Given the description of an element on the screen output the (x, y) to click on. 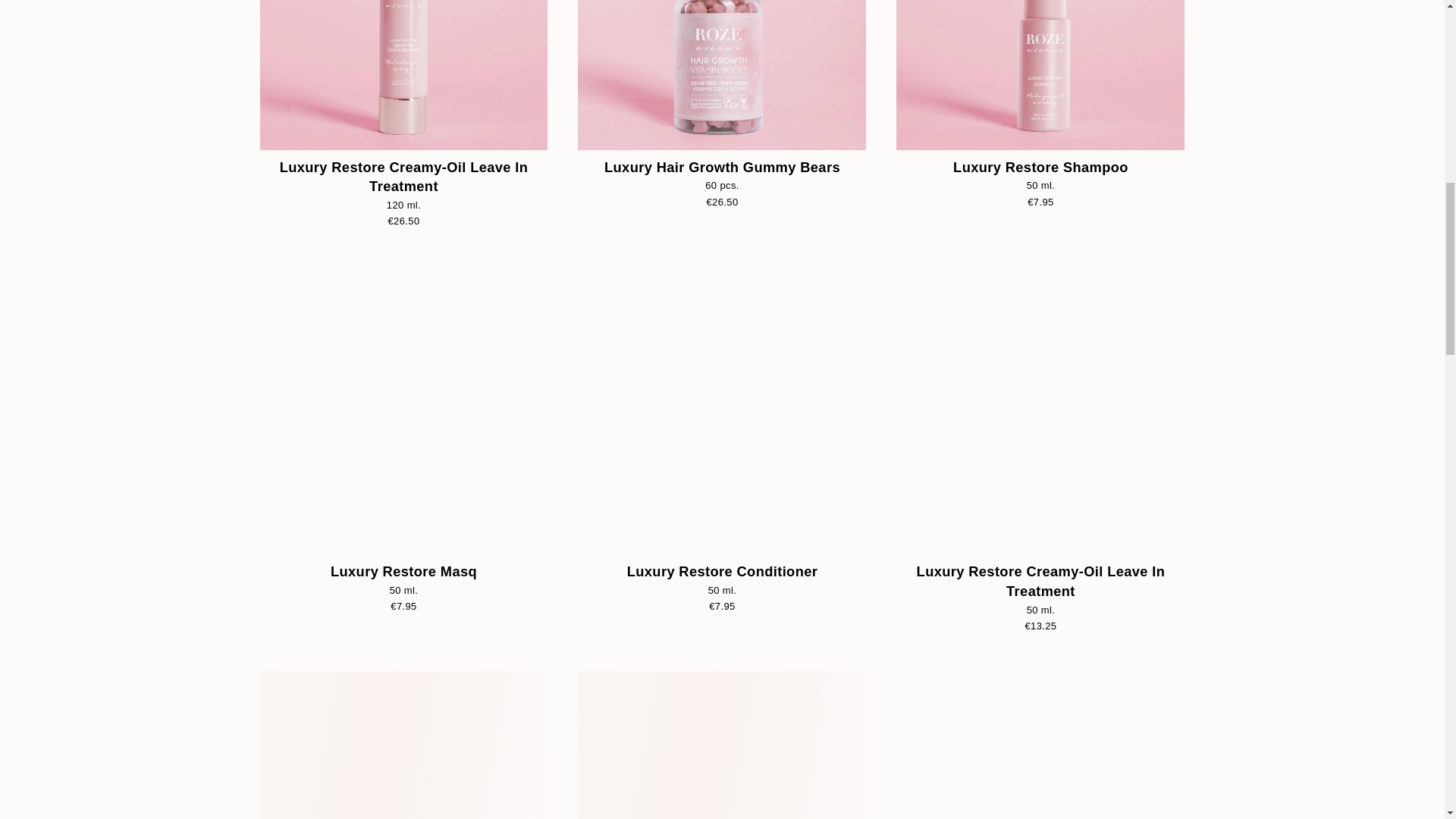
ICON-HAMBURGER (130, 47)
